Given the description of an element on the screen output the (x, y) to click on. 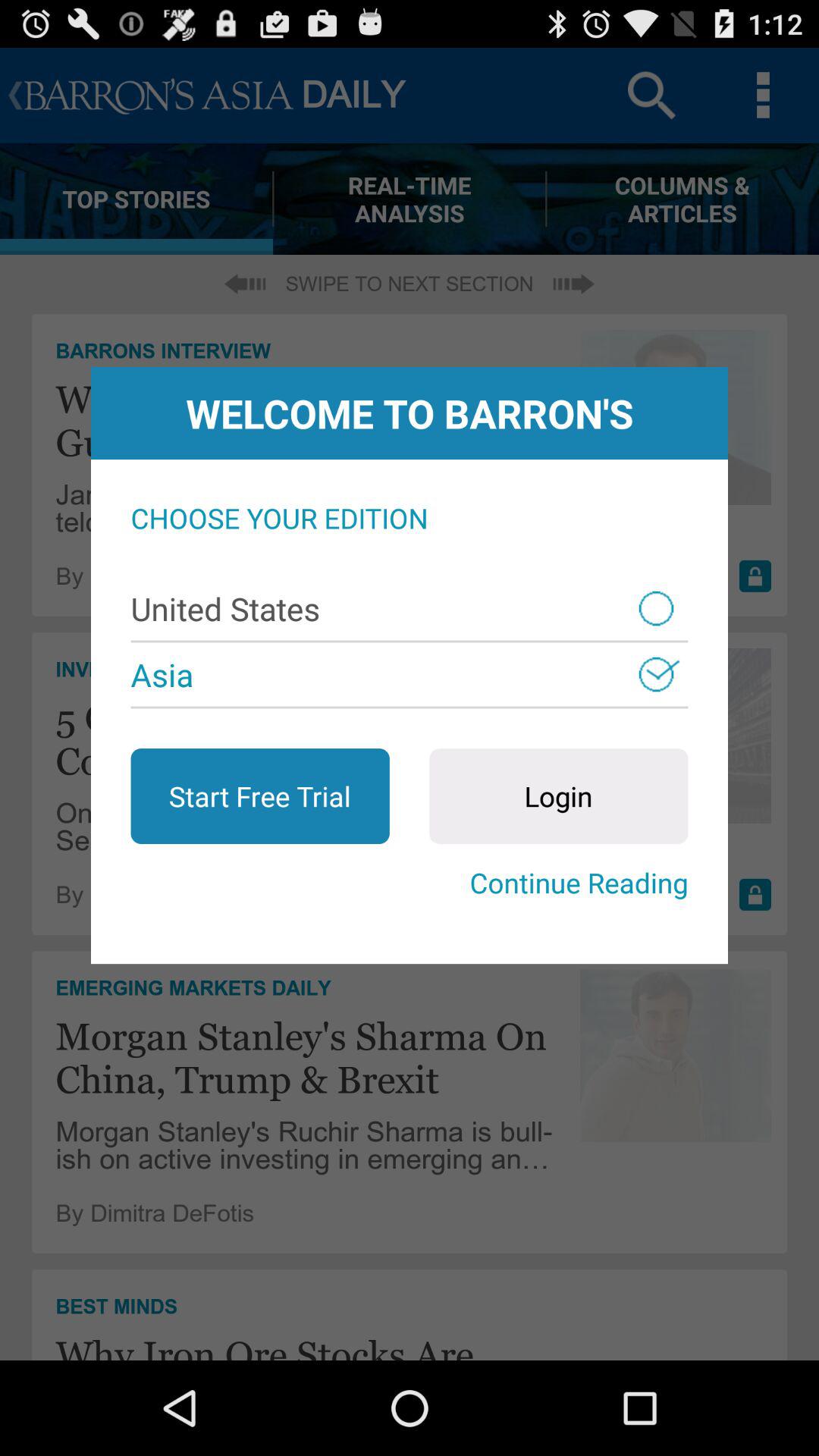
open item on the left (259, 796)
